Given the description of an element on the screen output the (x, y) to click on. 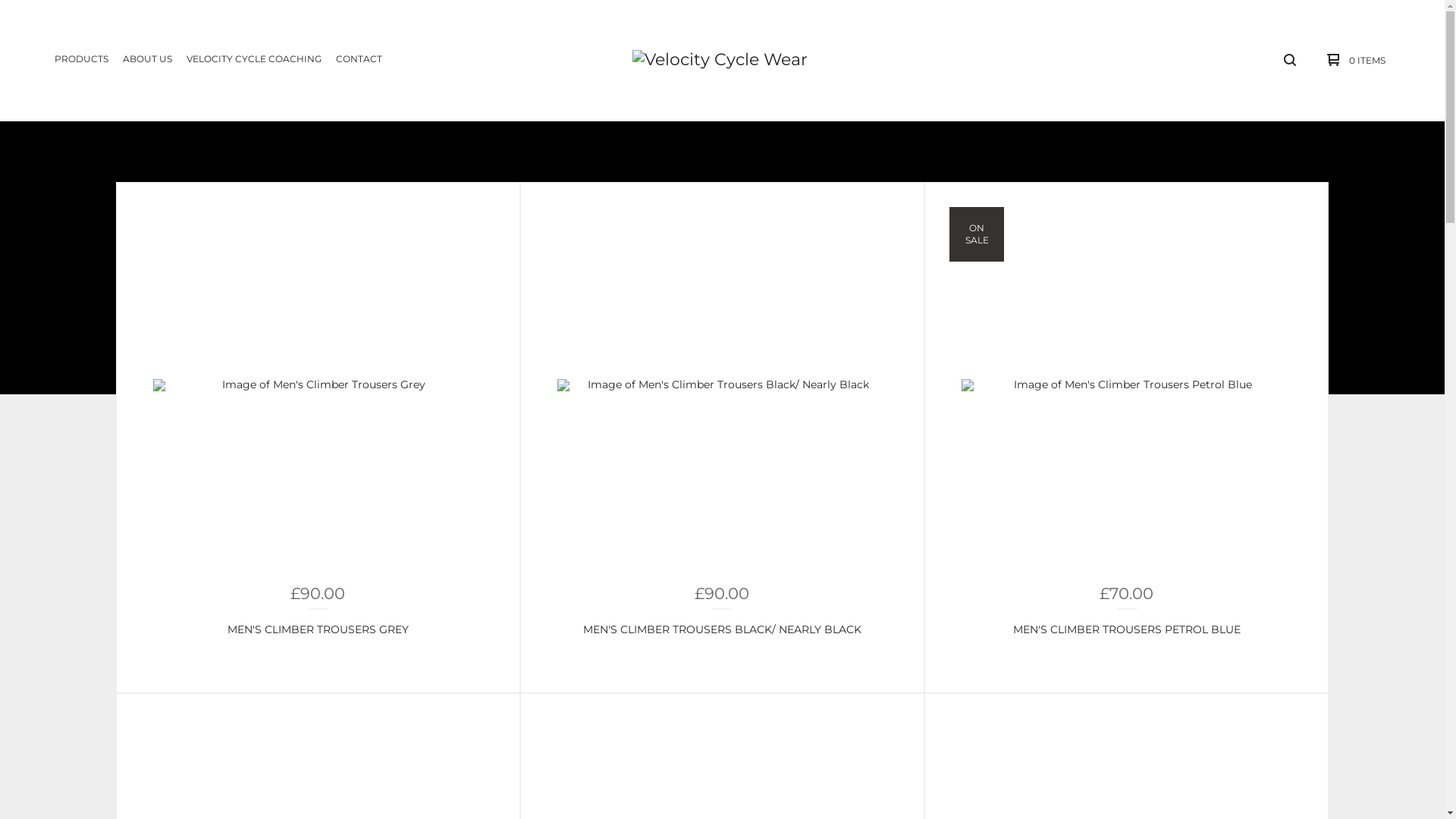
ABOUT US Element type: text (147, 59)
CONTACT Element type: text (358, 59)
Velocity Cycle Wear Element type: hover (719, 59)
0 ITEMS Element type: text (1352, 59)
PRODUCTS Element type: text (81, 59)
VELOCITY CYCLE COACHING Element type: text (253, 59)
